Given the description of an element on the screen output the (x, y) to click on. 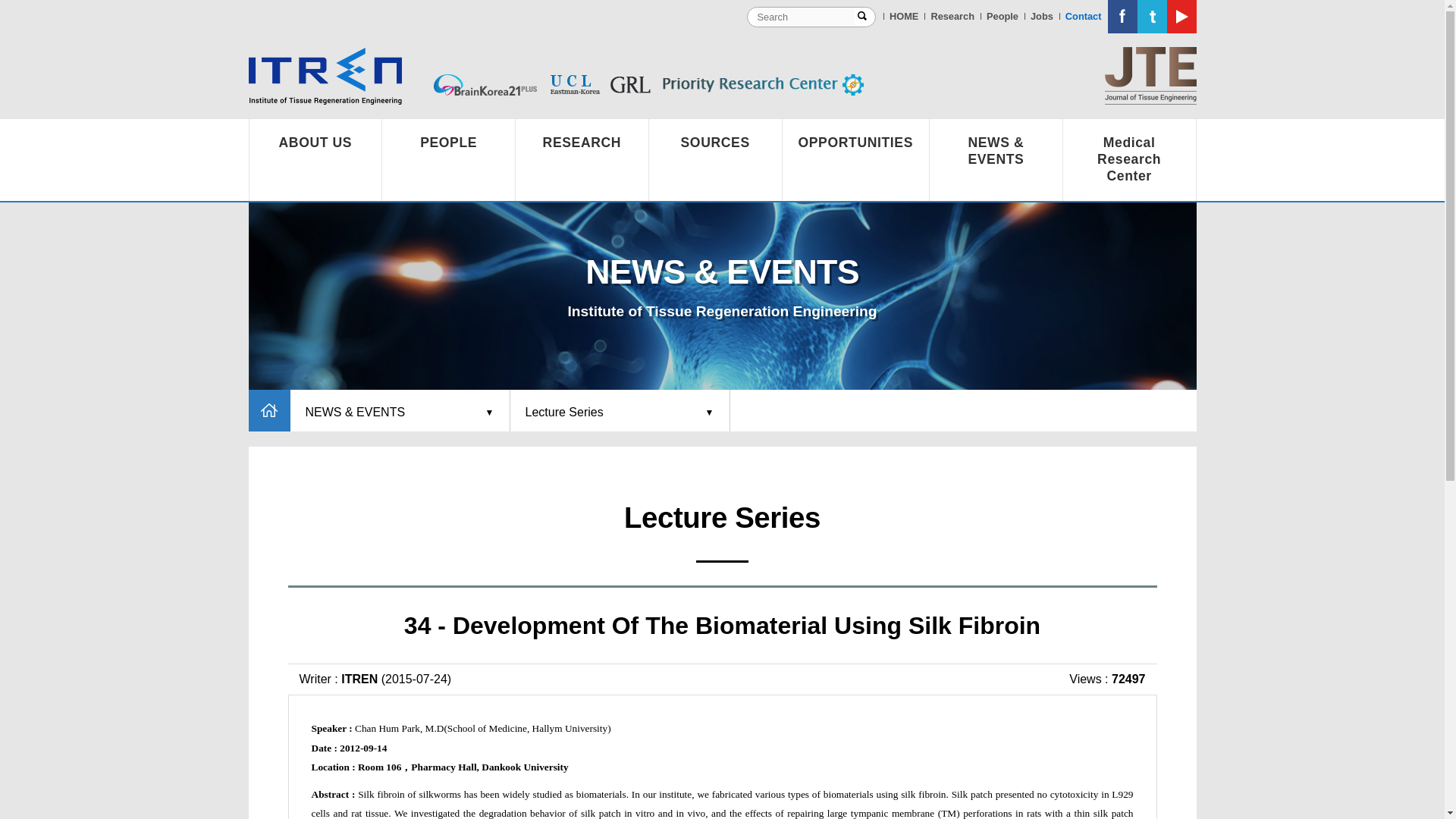
Jobs (1042, 15)
SOURCES (715, 142)
RESEARCH (581, 142)
People (1002, 15)
ABOUT US (314, 142)
Contact (1083, 15)
HOME (903, 15)
PEOPLE (448, 142)
OPPORTUNITIES (856, 142)
Research (951, 15)
